Given the description of an element on the screen output the (x, y) to click on. 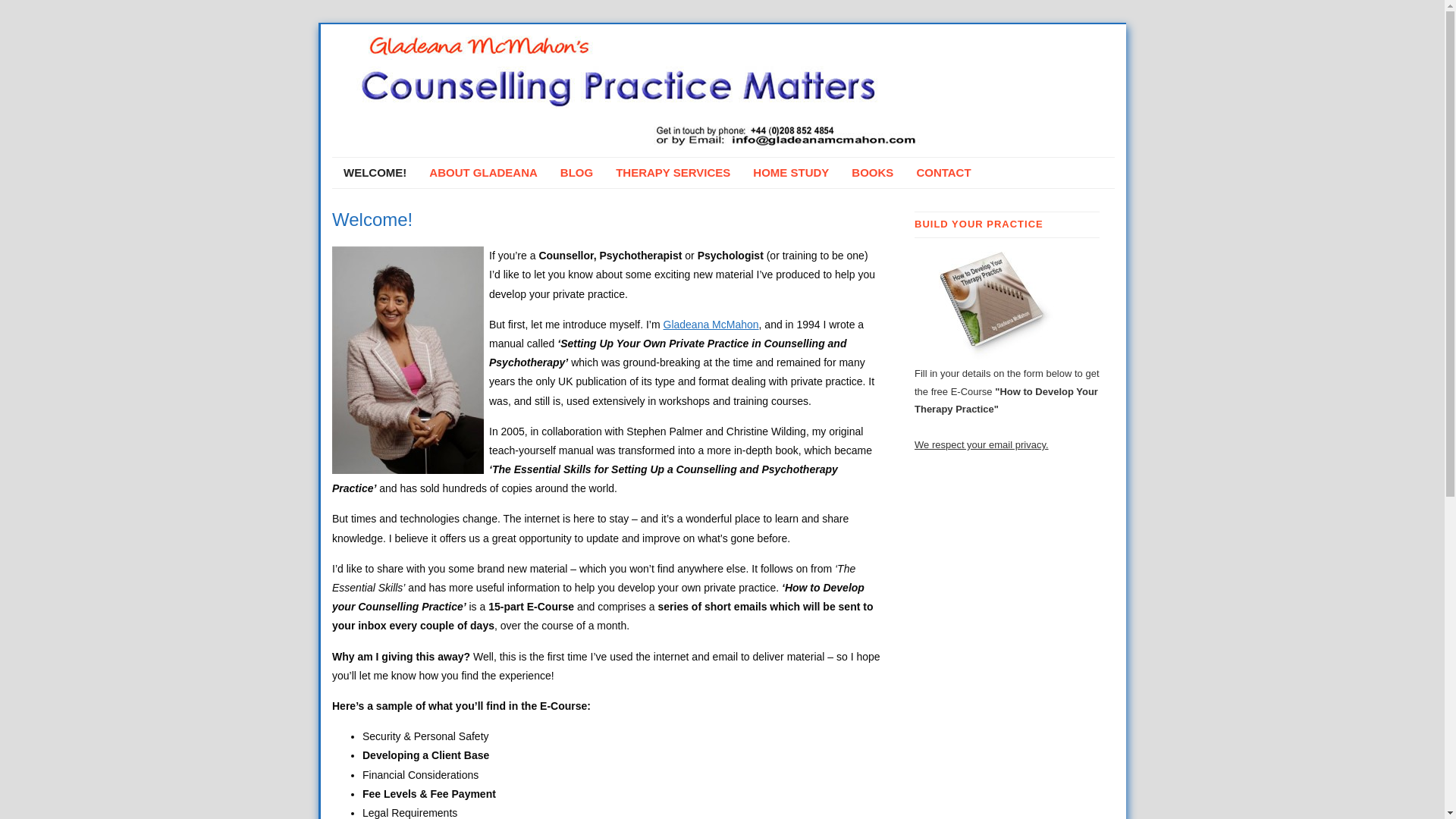
ABOUT GLADEANA (482, 173)
Free E-Course (989, 302)
THERAPY SERVICES (672, 173)
WELCOME! (374, 173)
CONTACT (942, 173)
Gladeana McMahon (710, 324)
BLOG (576, 173)
HOME STUDY (790, 173)
BOOKS (872, 173)
